Given the description of an element on the screen output the (x, y) to click on. 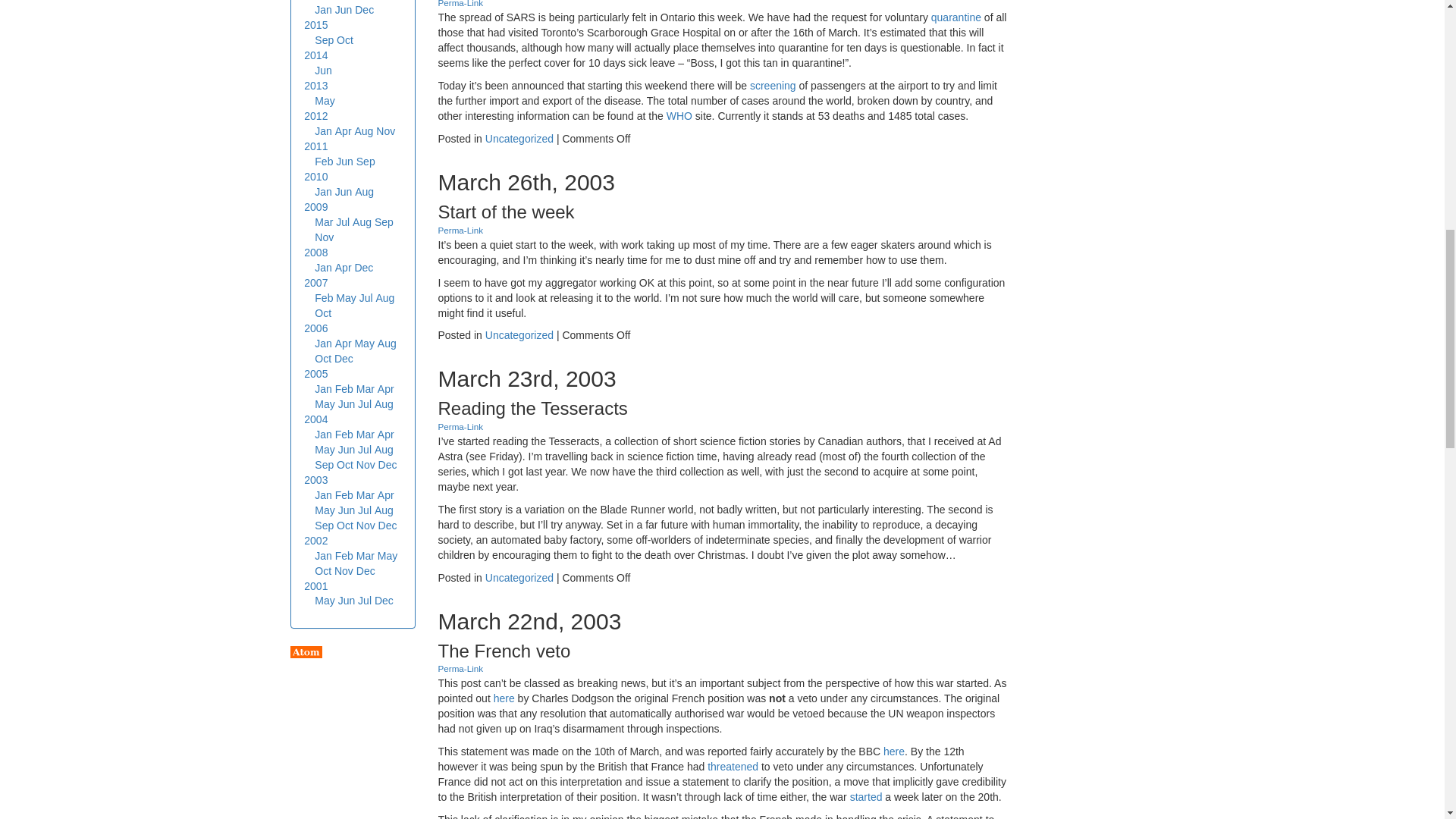
threatened (732, 766)
Perma-Link (460, 426)
quarantine (956, 17)
started (866, 797)
Permanent Link to Reading the Tesseracts (460, 426)
screening (772, 85)
here (893, 751)
Permanent Link to SARS in Ontario (460, 3)
Permanent Link to The French veto (460, 668)
Perma-Link (460, 230)
